Given the description of an element on the screen output the (x, y) to click on. 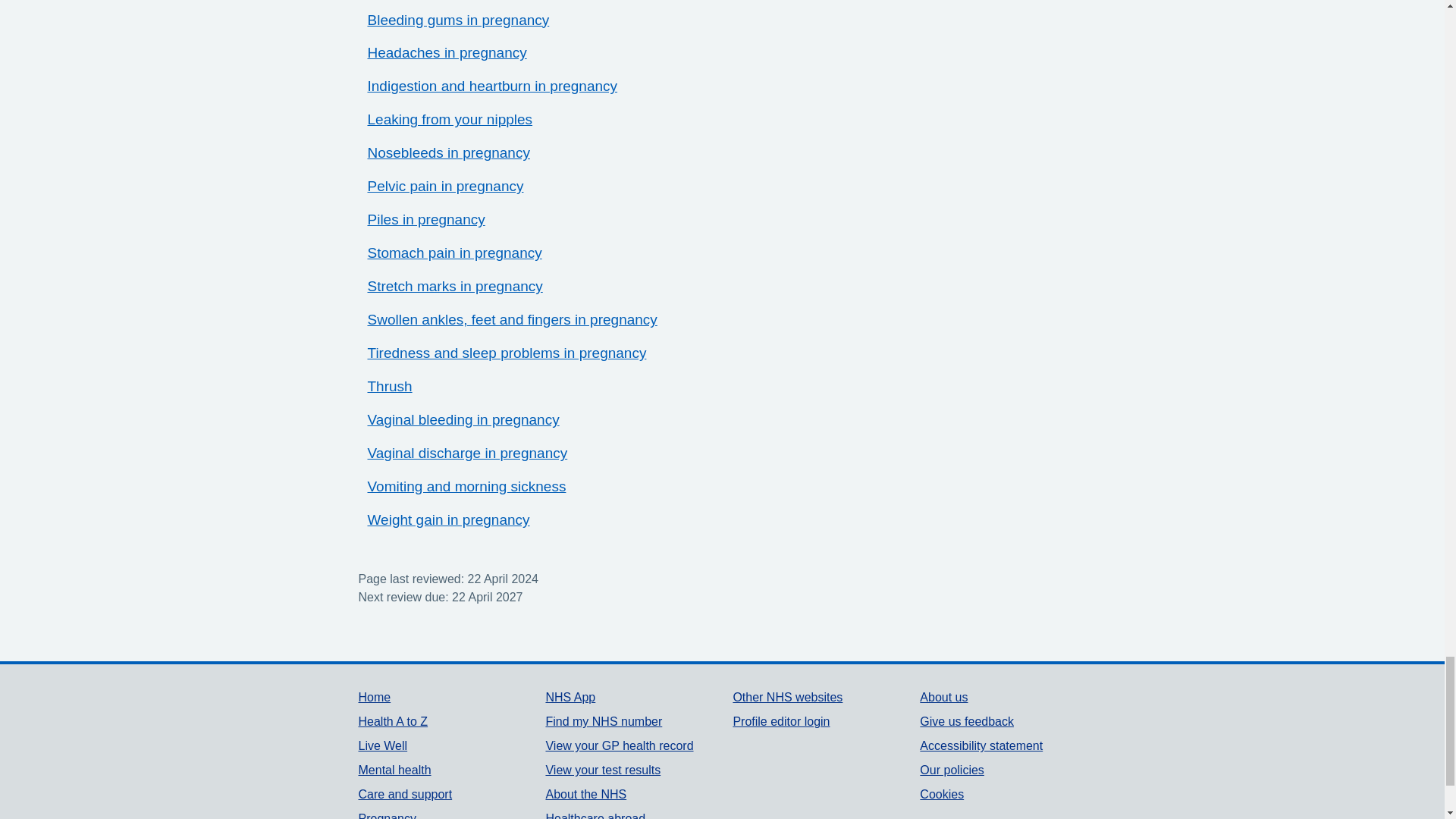
Headaches in pregnancy (445, 52)
Indigestion and heartburn in pregnancy (491, 85)
Bleeding gums in pregnancy (457, 19)
